Given the description of an element on the screen output the (x, y) to click on. 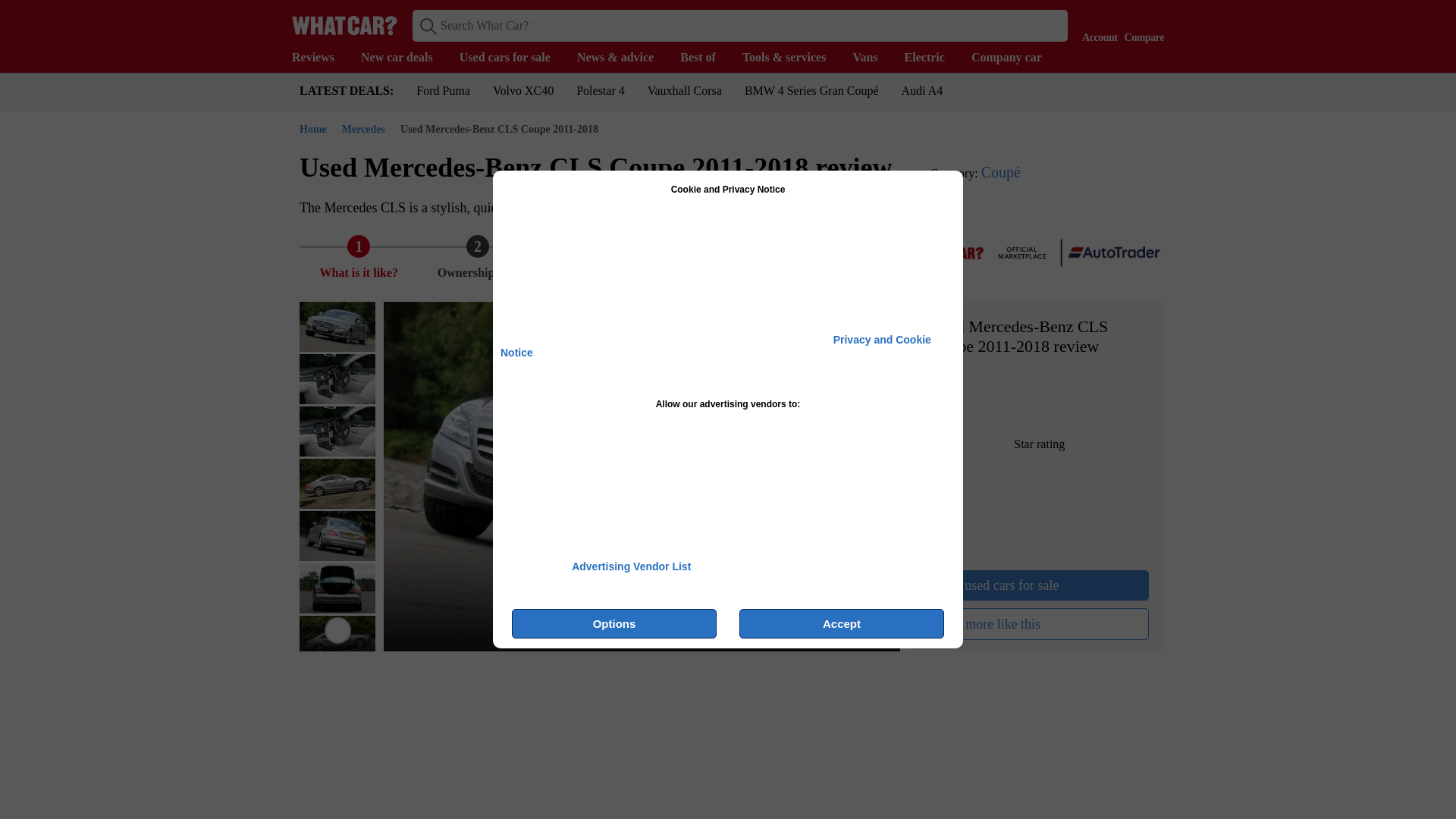
Account (1095, 24)
New car deals (404, 57)
Vans (871, 57)
Electric (931, 57)
Company car (1014, 57)
WhatCar? logo (344, 25)
Compare (1140, 24)
Reviews (320, 57)
Best of (704, 57)
Used cars for sale (513, 57)
